Given the description of an element on the screen output the (x, y) to click on. 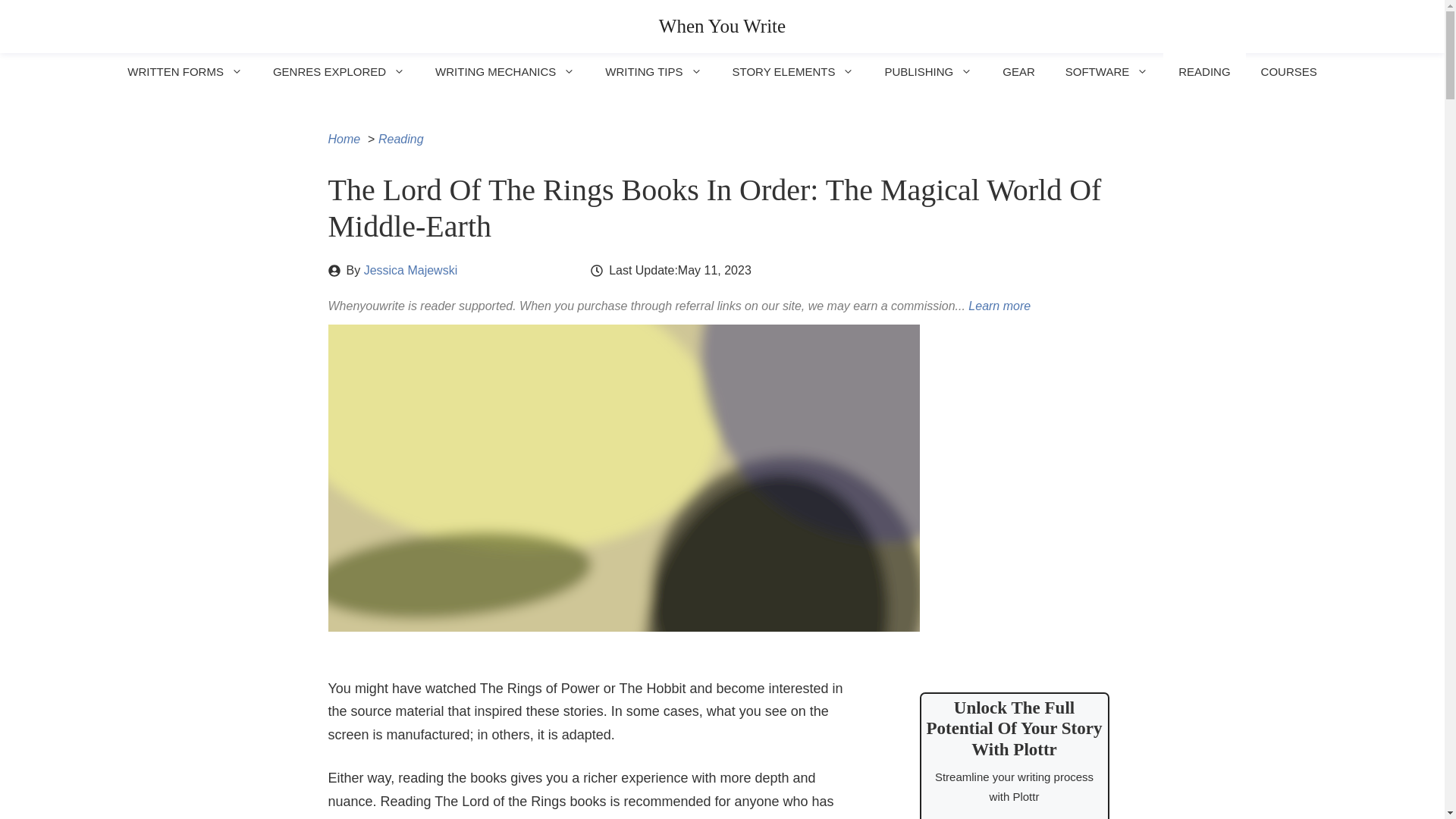
WRITTEN FORMS (184, 71)
When You Write (722, 25)
GENRES EXPLORED (338, 71)
WRITING MECHANICS (504, 71)
WRITING TIPS (652, 71)
PUBLISHING (928, 71)
STORY ELEMENTS (793, 71)
